Given the description of an element on the screen output the (x, y) to click on. 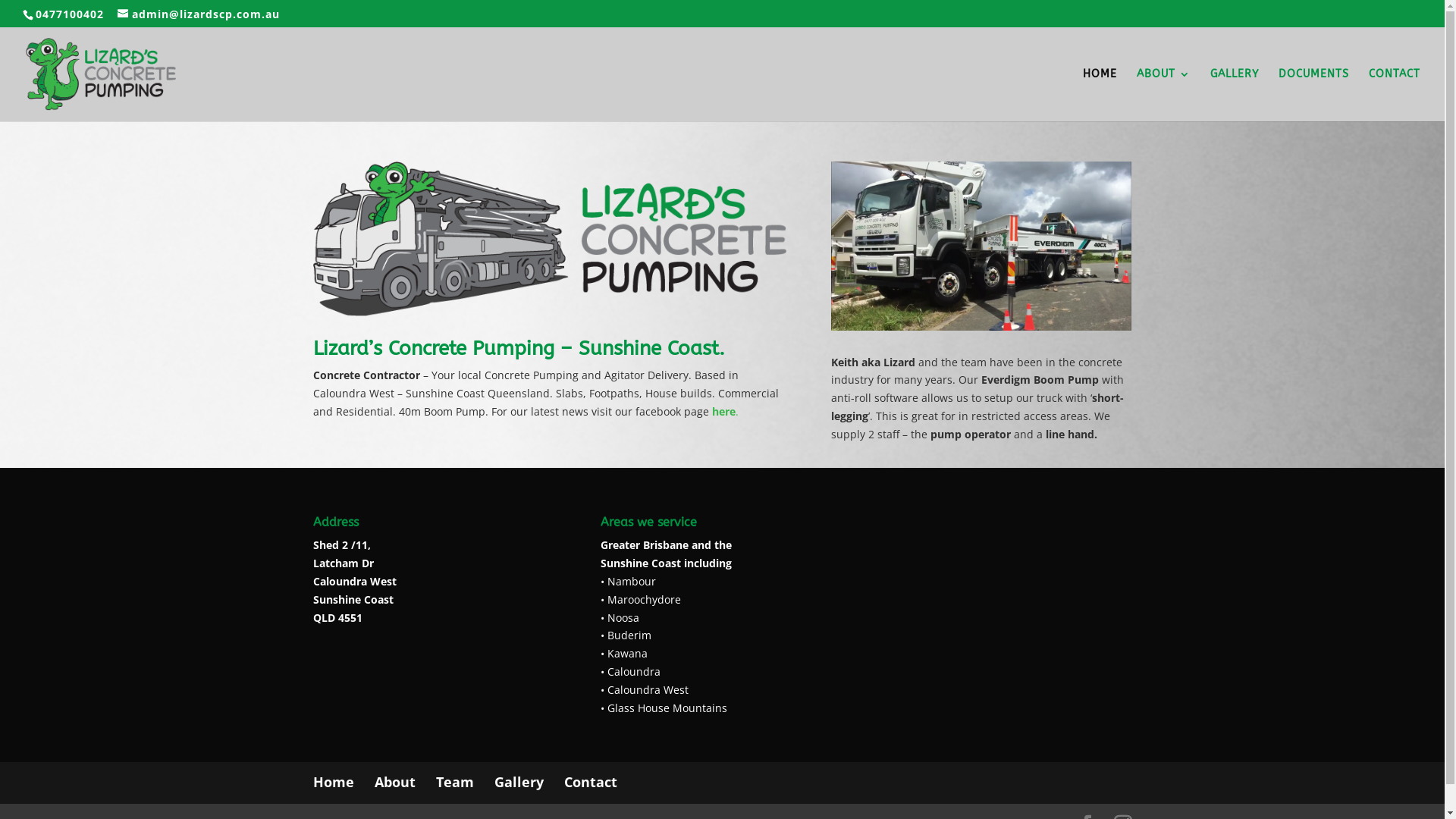
0477100402 Element type: text (69, 13)
Gallery Element type: text (518, 781)
About Element type: text (394, 781)
GALLERY Element type: text (1234, 95)
DOCUMENTS Element type: text (1313, 95)
ABOUT Element type: text (1163, 95)
Contact Element type: text (590, 781)
admin@lizardscp.com.au Element type: text (198, 13)
here. Element type: text (724, 411)
HOME Element type: text (1099, 95)
Home Element type: text (332, 781)
CONTACT Element type: text (1394, 95)
Team Element type: text (454, 781)
